Given the description of an element on the screen output the (x, y) to click on. 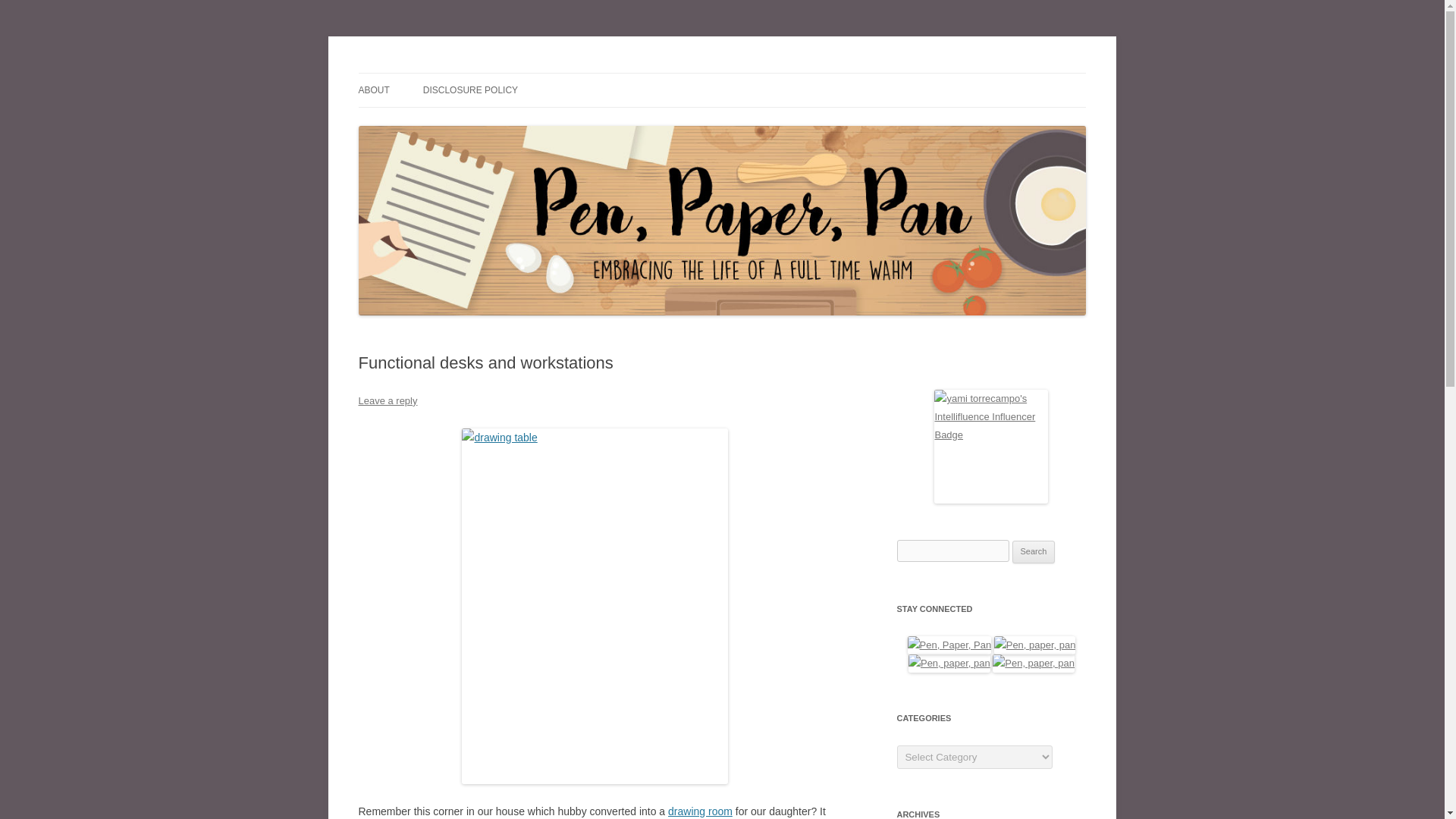
Leave a reply (387, 400)
Search (1033, 551)
Search (1033, 551)
DISCLOSURE POLICY (470, 90)
ABOUT (373, 90)
Pen, Paper, Pan (431, 72)
drawing room (700, 811)
